Given the description of an element on the screen output the (x, y) to click on. 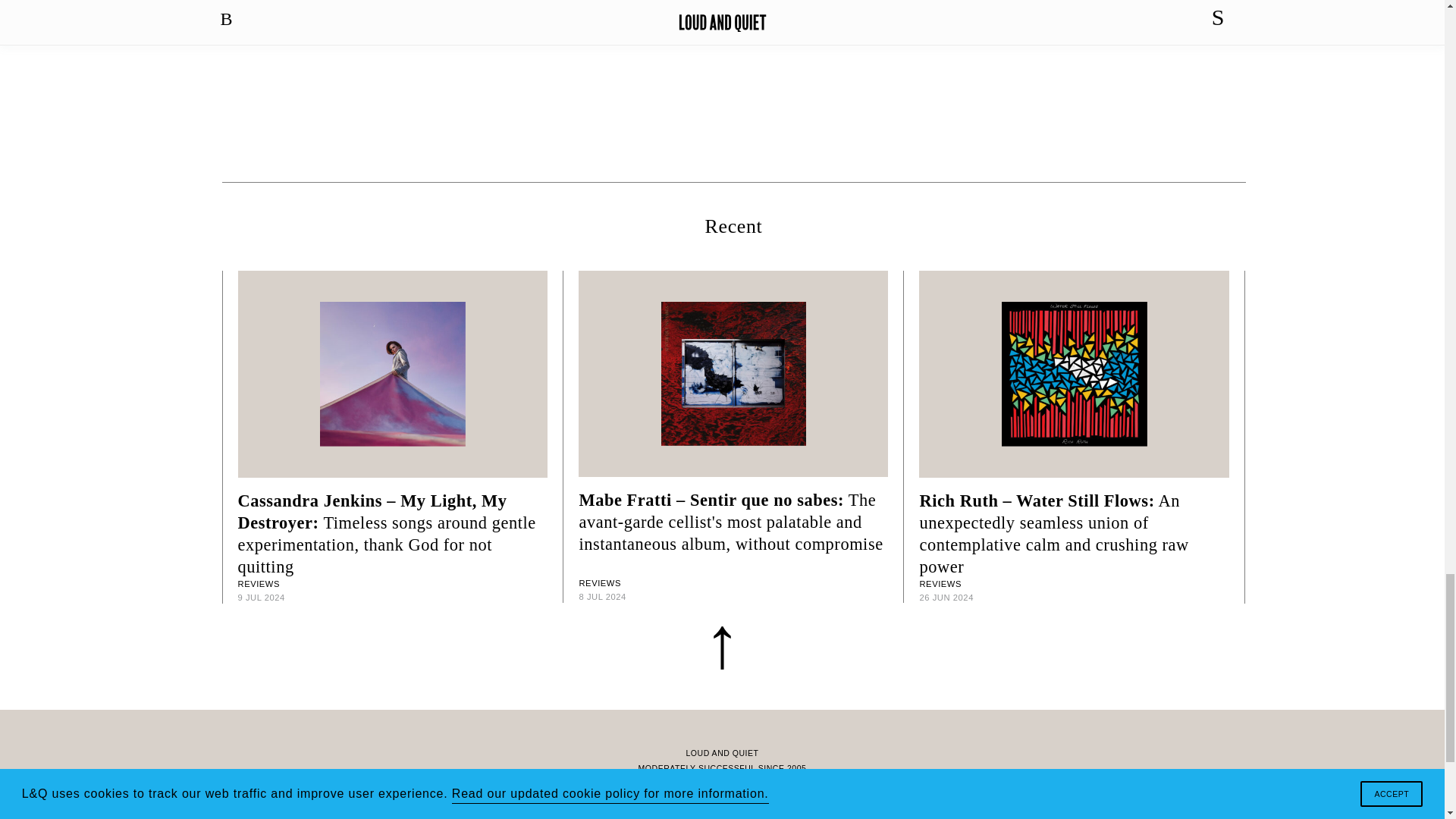
BURIAL (734, 29)
3rd party ad content (722, 101)
